Given the description of an element on the screen output the (x, y) to click on. 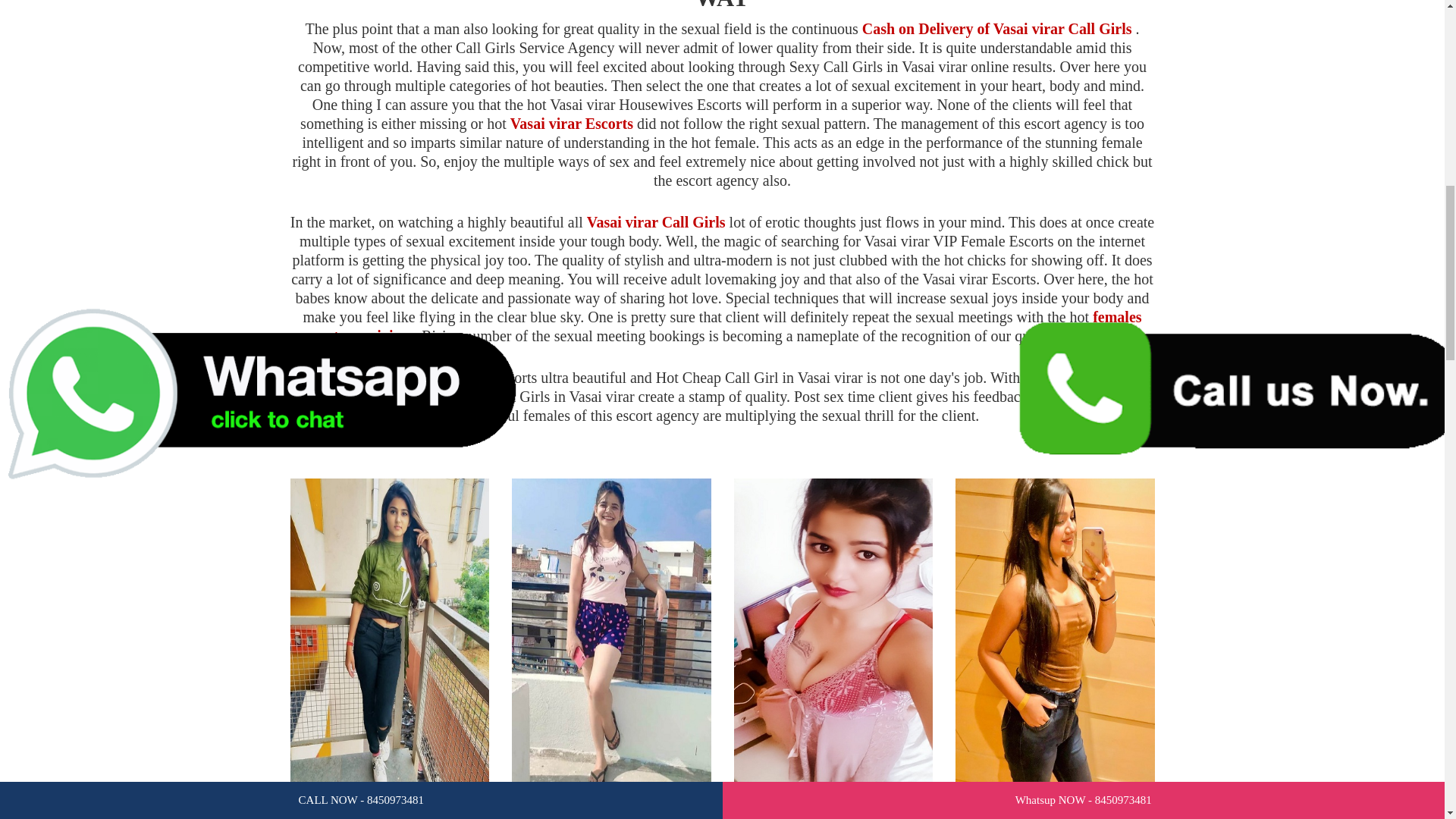
Cash on Delivery of Vasai virar Call Girls (996, 28)
females escorts vasaivirar (720, 325)
Vasai virar Call Girls (655, 221)
Vasai virar Escorts (572, 123)
